Given the description of an element on the screen output the (x, y) to click on. 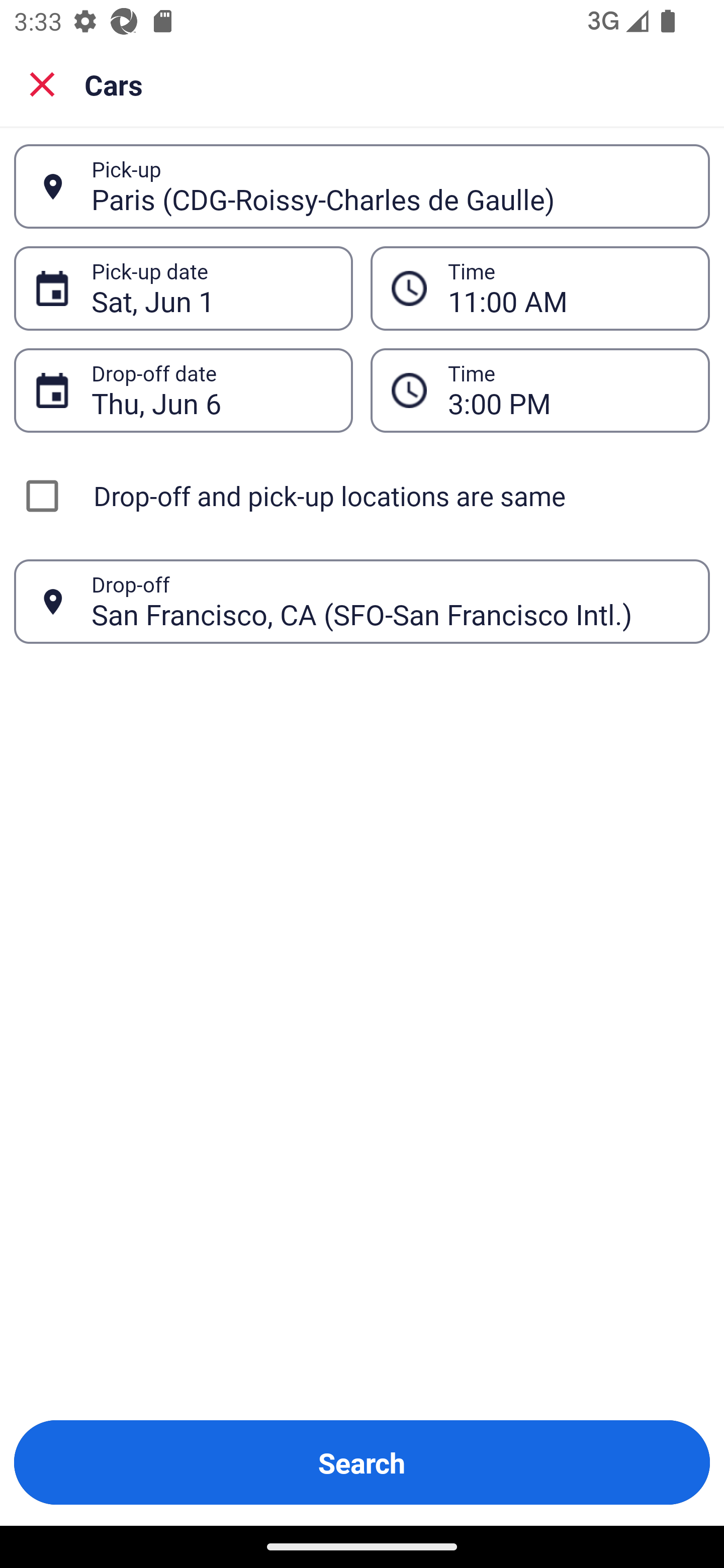
Close search screen (41, 83)
Paris (CDG-Roissy-Charles de Gaulle) Pick-up (361, 186)
Paris (CDG-Roissy-Charles de Gaulle) (389, 186)
Sat, Jun 1 Pick-up date (183, 288)
11:00 AM (540, 288)
Sat, Jun 1 (211, 288)
11:00 AM (568, 288)
Thu, Jun 6 Drop-off date (183, 390)
3:00 PM (540, 390)
Thu, Jun 6 (211, 390)
3:00 PM (568, 390)
Drop-off and pick-up locations are same (361, 495)
San Francisco, CA (SFO-San Francisco Intl.) (389, 601)
Search Button Search (361, 1462)
